Given the description of an element on the screen output the (x, y) to click on. 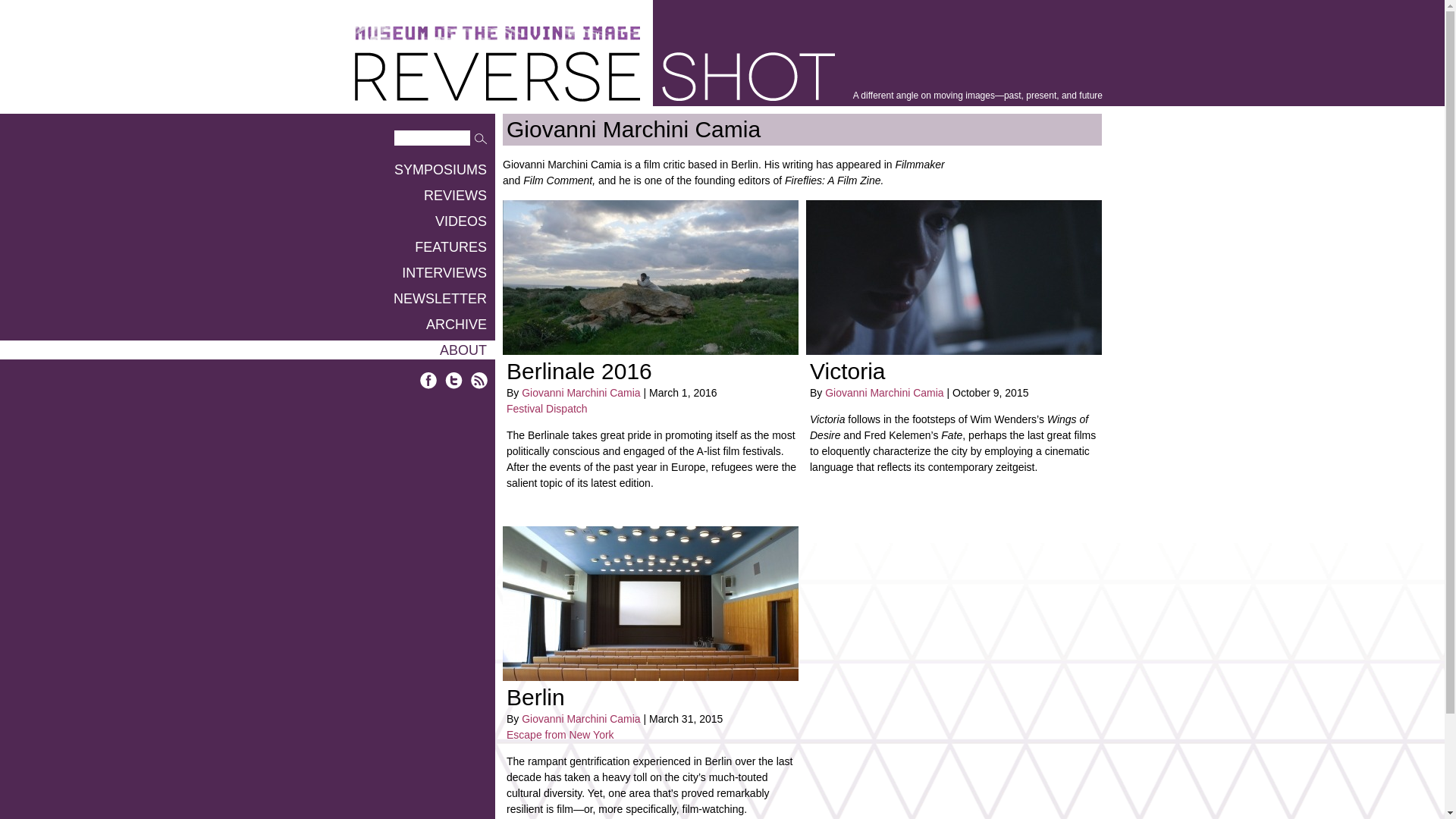
Festival Dispatch (547, 408)
INTERVIEWS (247, 271)
Escape from New York (560, 734)
ARCHIVE (247, 323)
Twitter (454, 380)
Reverse Shot (594, 75)
RSS Feed (478, 380)
Facebook (429, 380)
Giovanni Marchini Camia (580, 718)
VIDEOS (247, 220)
NEWSLETTER (247, 298)
Museum of the Moving Image (497, 33)
FEATURES (247, 246)
Berlin (535, 697)
Twitter (454, 380)
